Given the description of an element on the screen output the (x, y) to click on. 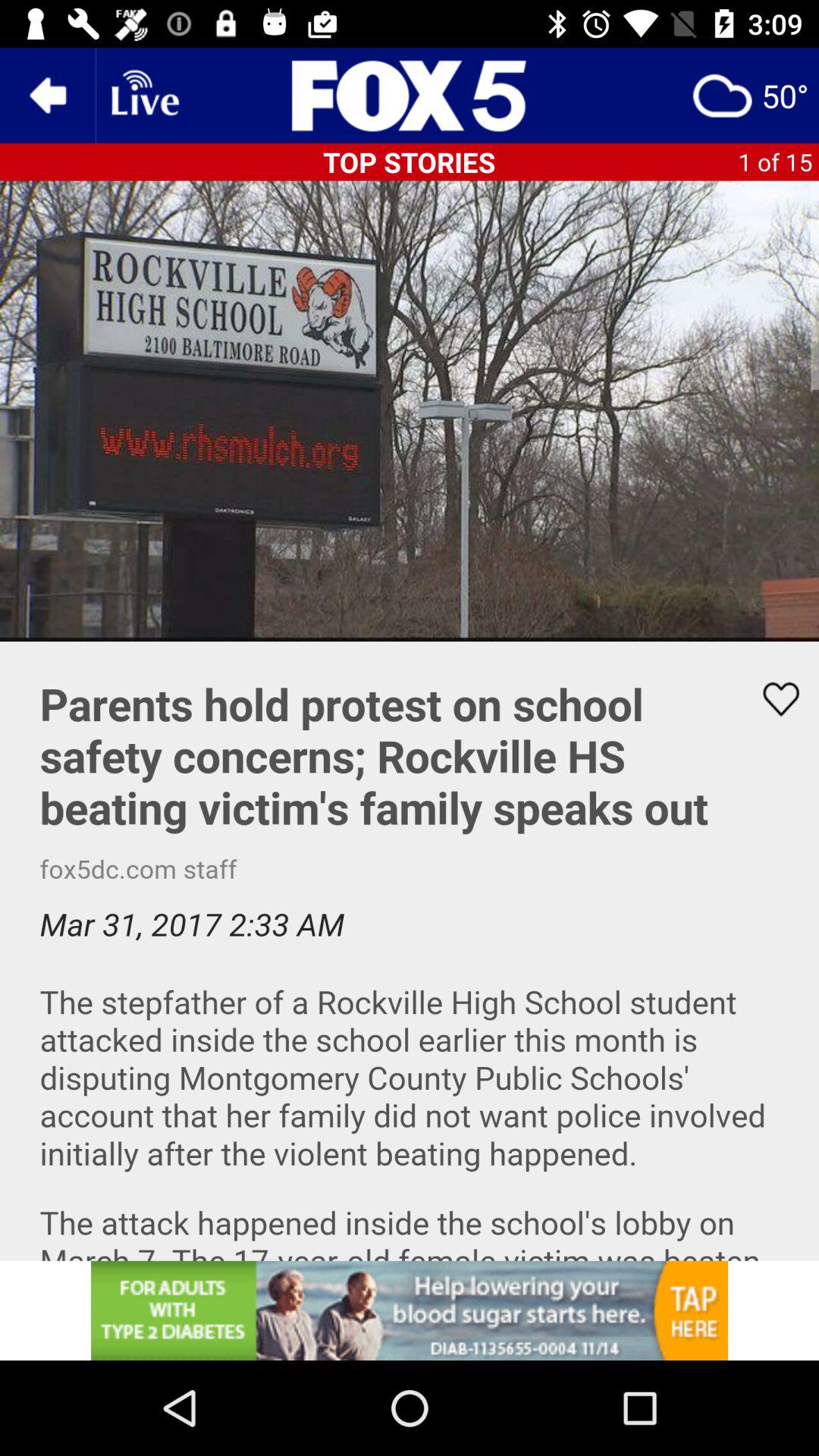
title image (409, 95)
